Given the description of an element on the screen output the (x, y) to click on. 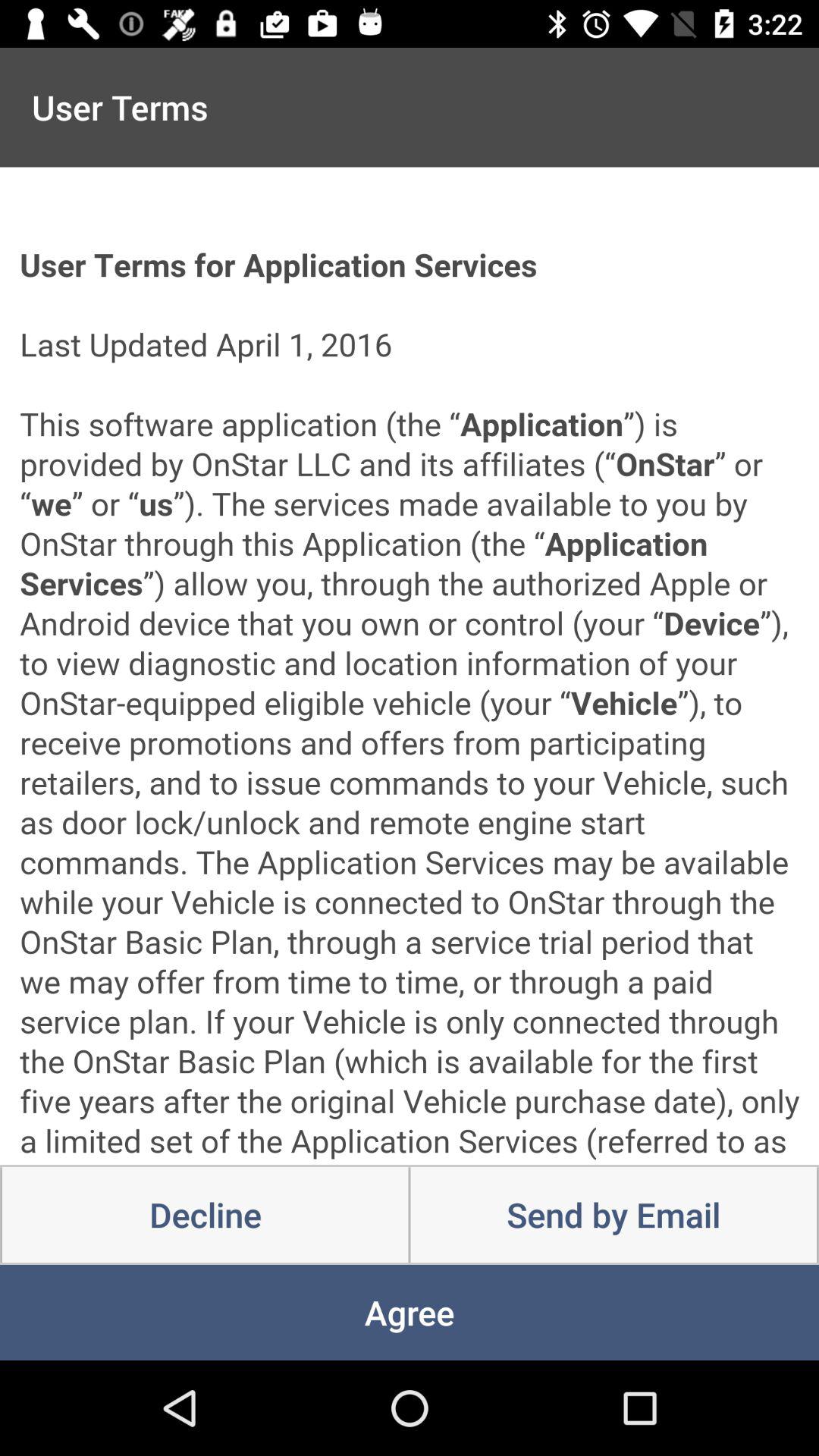
select item next to the decline icon (613, 1214)
